Given the description of an element on the screen output the (x, y) to click on. 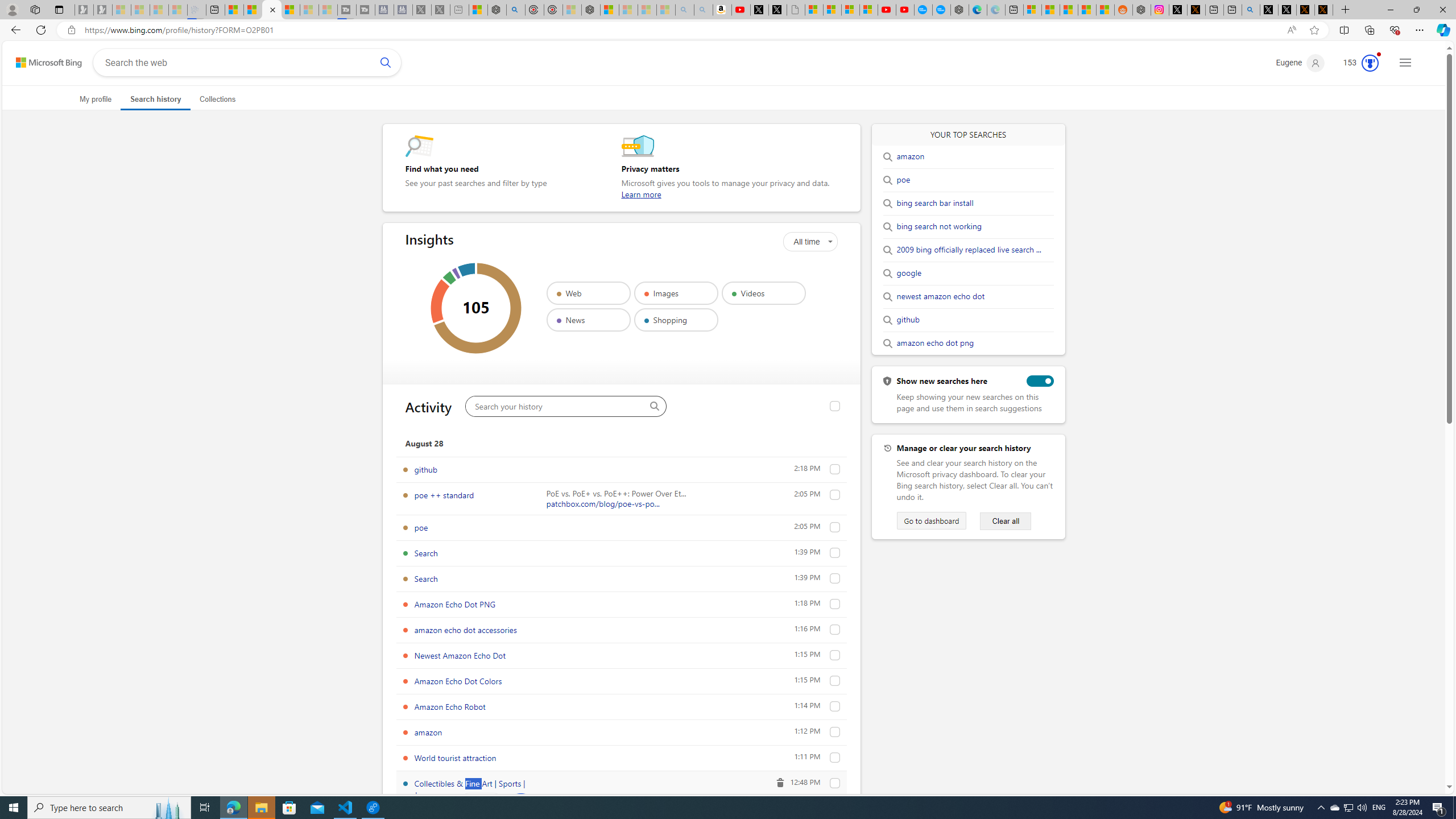
Class: medal-circled (1369, 63)
poe (903, 180)
Newest Amazon Echo Dot (834, 655)
AutomationID: qs_chatBox (520, 804)
amazon - Search - Sleeping (684, 9)
Tab actions menu (58, 9)
Copilot (Ctrl+Shift+.) (1442, 29)
Class: el_arc partner-news (455, 273)
poe ++ standard (834, 494)
Collectibles & Fine Art | Sports | Jerseys (469, 789)
amazon echo dot accessories (464, 629)
bing search bar install (935, 203)
amazon echo dot accessories (834, 629)
